Given the description of an element on the screen output the (x, y) to click on. 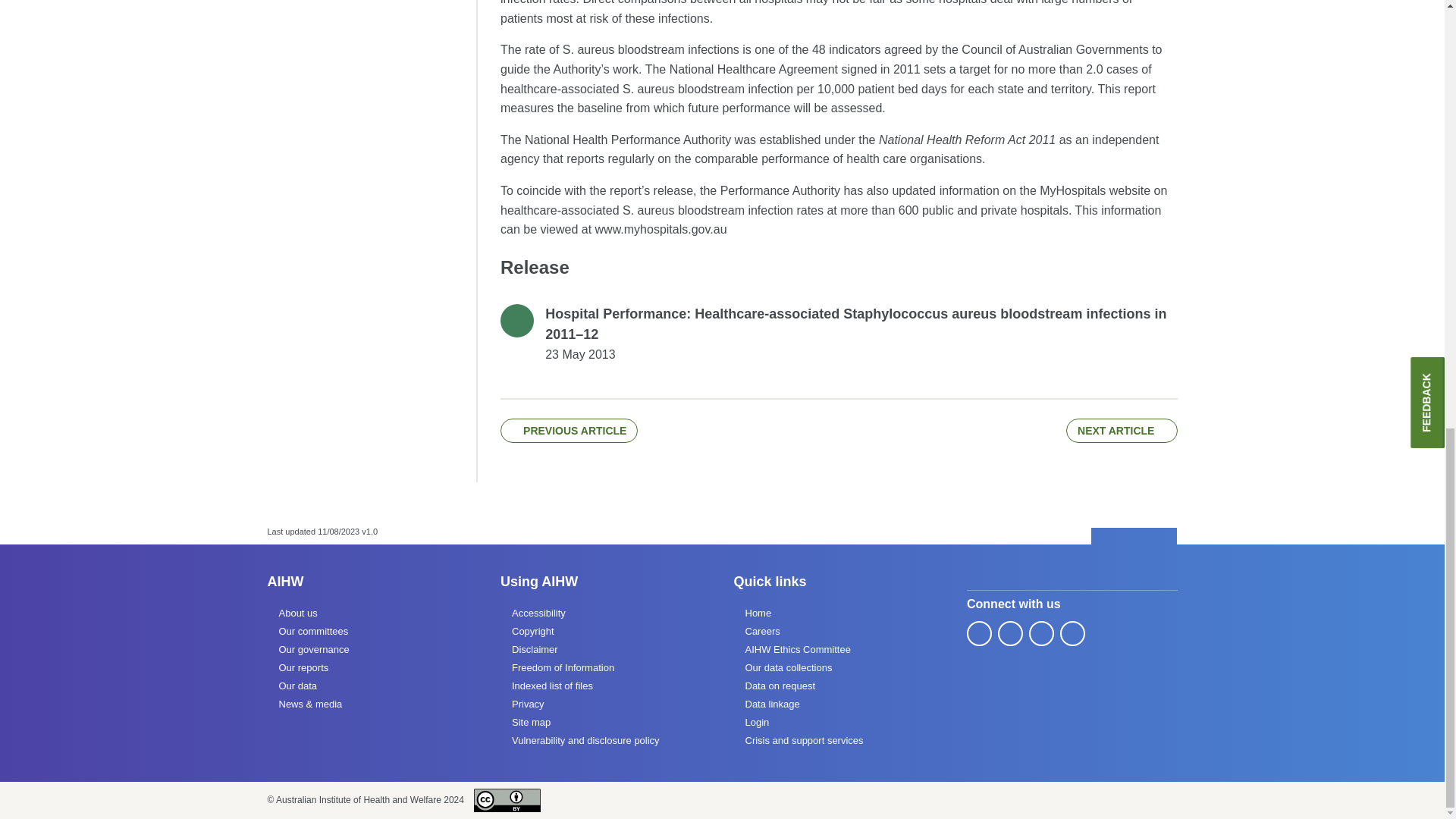
Back to top (1133, 537)
